Given the description of an element on the screen output the (x, y) to click on. 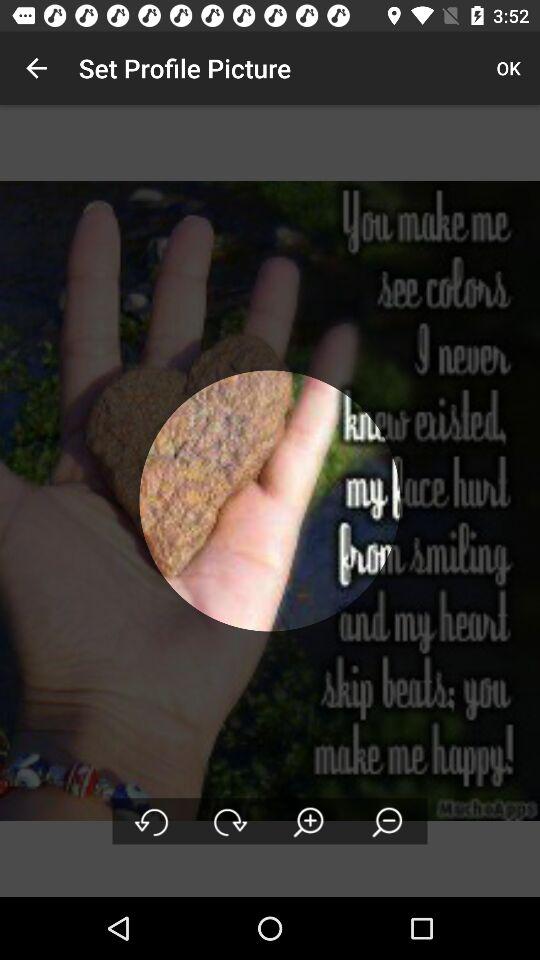
launch item to the left of the set profile picture (36, 68)
